Given the description of an element on the screen output the (x, y) to click on. 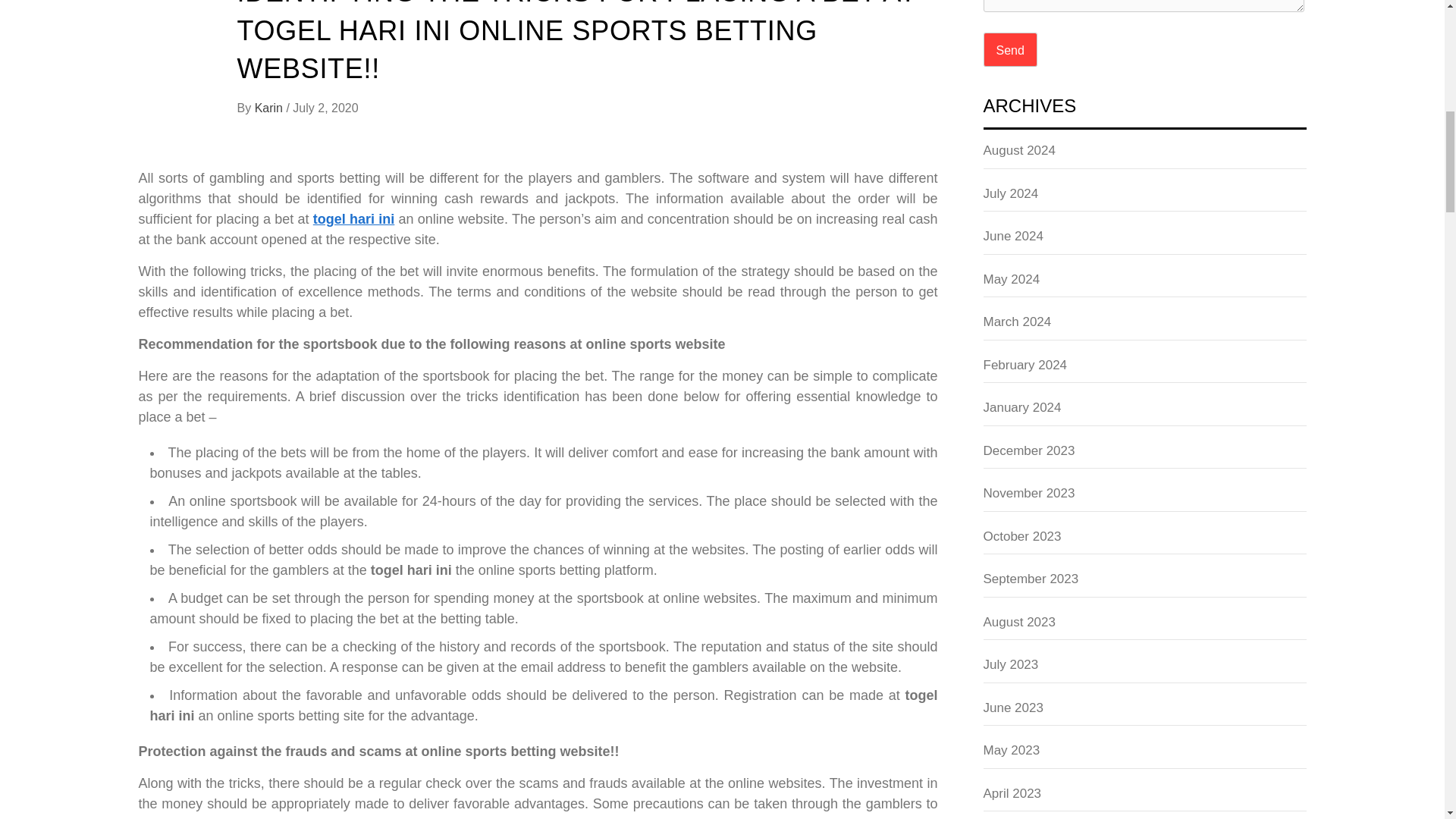
Karin (270, 107)
Send (1009, 49)
togel hari ini (353, 218)
August 2024 (1144, 154)
Send (1009, 49)
